Given the description of an element on the screen output the (x, y) to click on. 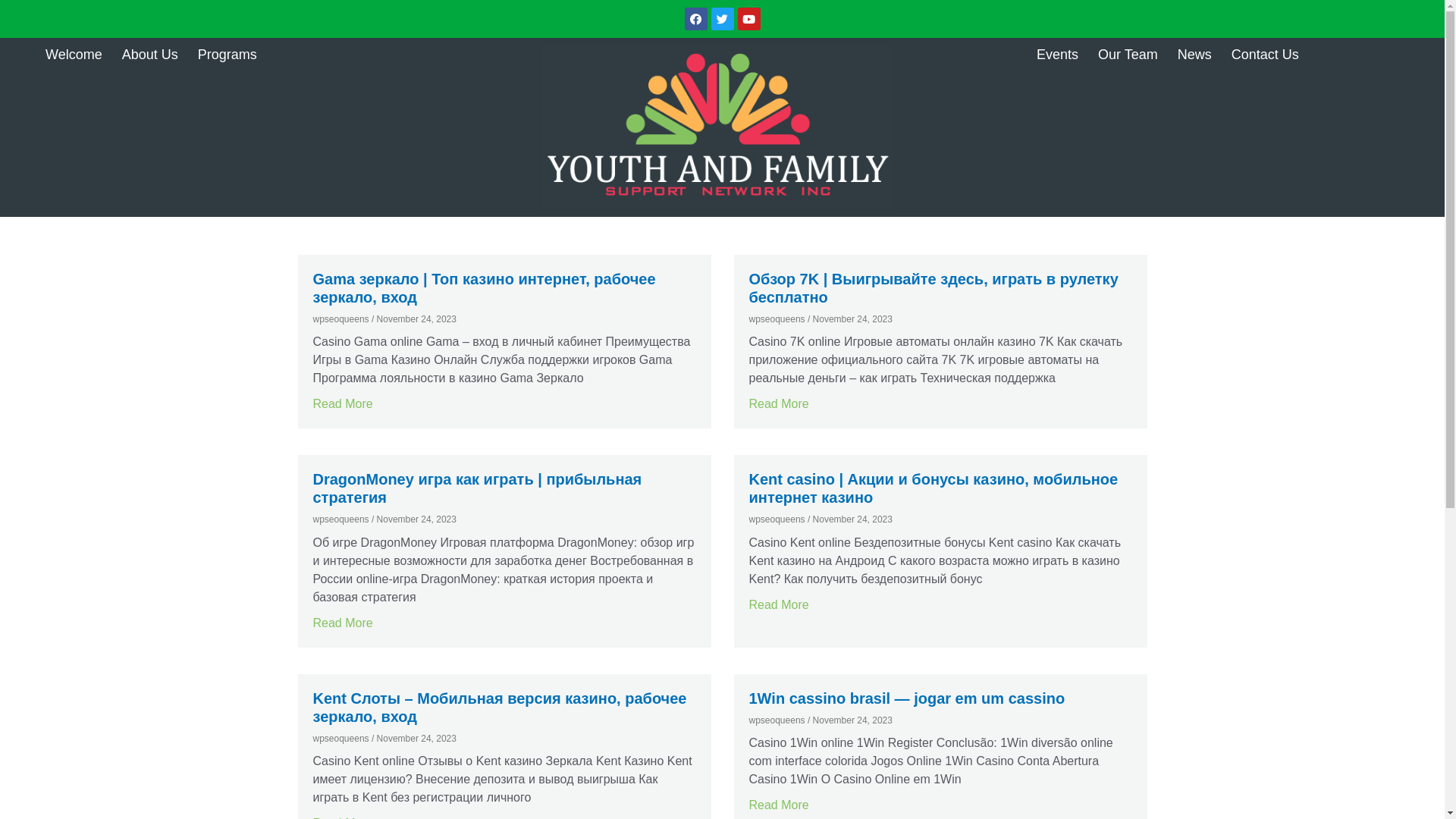
About Us Element type: text (150, 54)
Our Team Element type: text (1127, 54)
Read More Element type: text (779, 804)
Read More Element type: text (779, 604)
Contact Us Element type: text (1265, 54)
Read More Element type: text (779, 403)
Facebook Element type: text (695, 18)
Events Element type: text (1057, 54)
Read More Element type: text (342, 622)
Twitter Element type: text (722, 18)
Welcome Element type: text (73, 54)
Programs Element type: text (227, 54)
News Element type: text (1194, 54)
Youtube Element type: text (748, 18)
Read More Element type: text (342, 403)
